Given the description of an element on the screen output the (x, y) to click on. 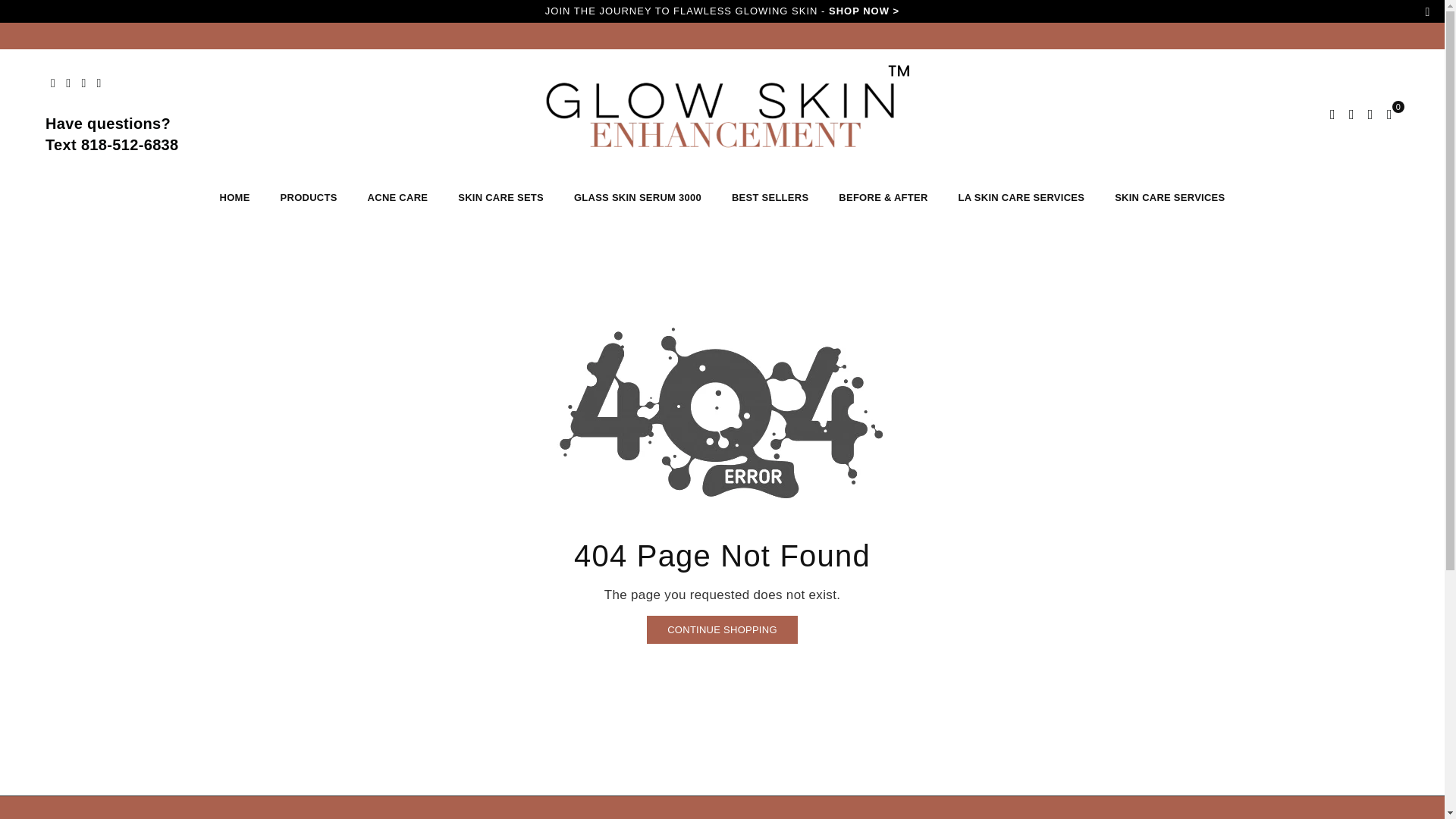
HOME (234, 197)
ACNE CARE (398, 197)
PRODUCTS (309, 197)
Glow Skin Enhancement (722, 114)
